Given the description of an element on the screen output the (x, y) to click on. 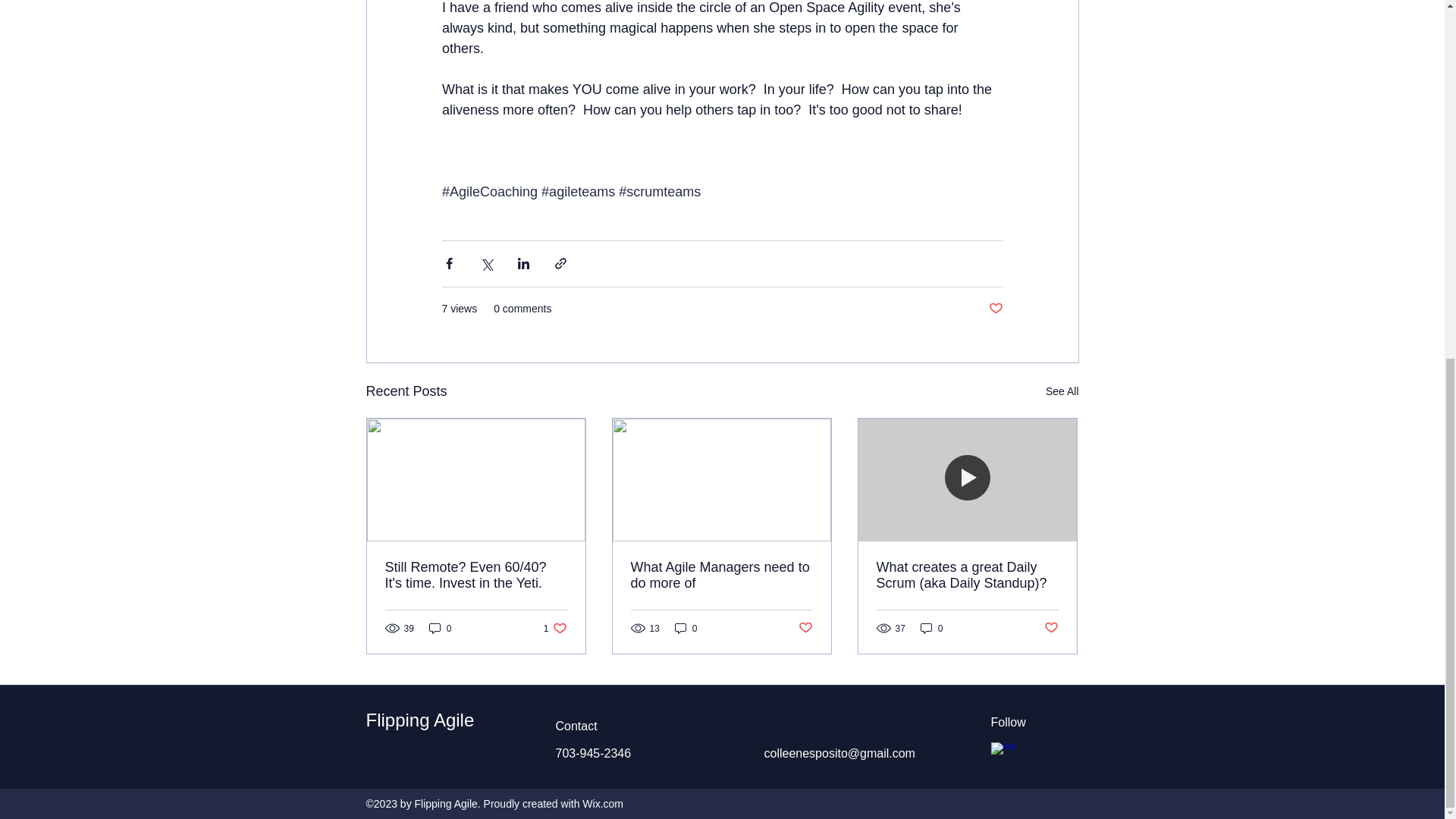
What Agile Managers need to do more of (721, 575)
Post not marked as liked (995, 308)
0 (685, 627)
0 (440, 627)
0 (931, 627)
See All (555, 627)
Post not marked as liked (1061, 391)
Post not marked as liked (1050, 627)
